Given the description of an element on the screen output the (x, y) to click on. 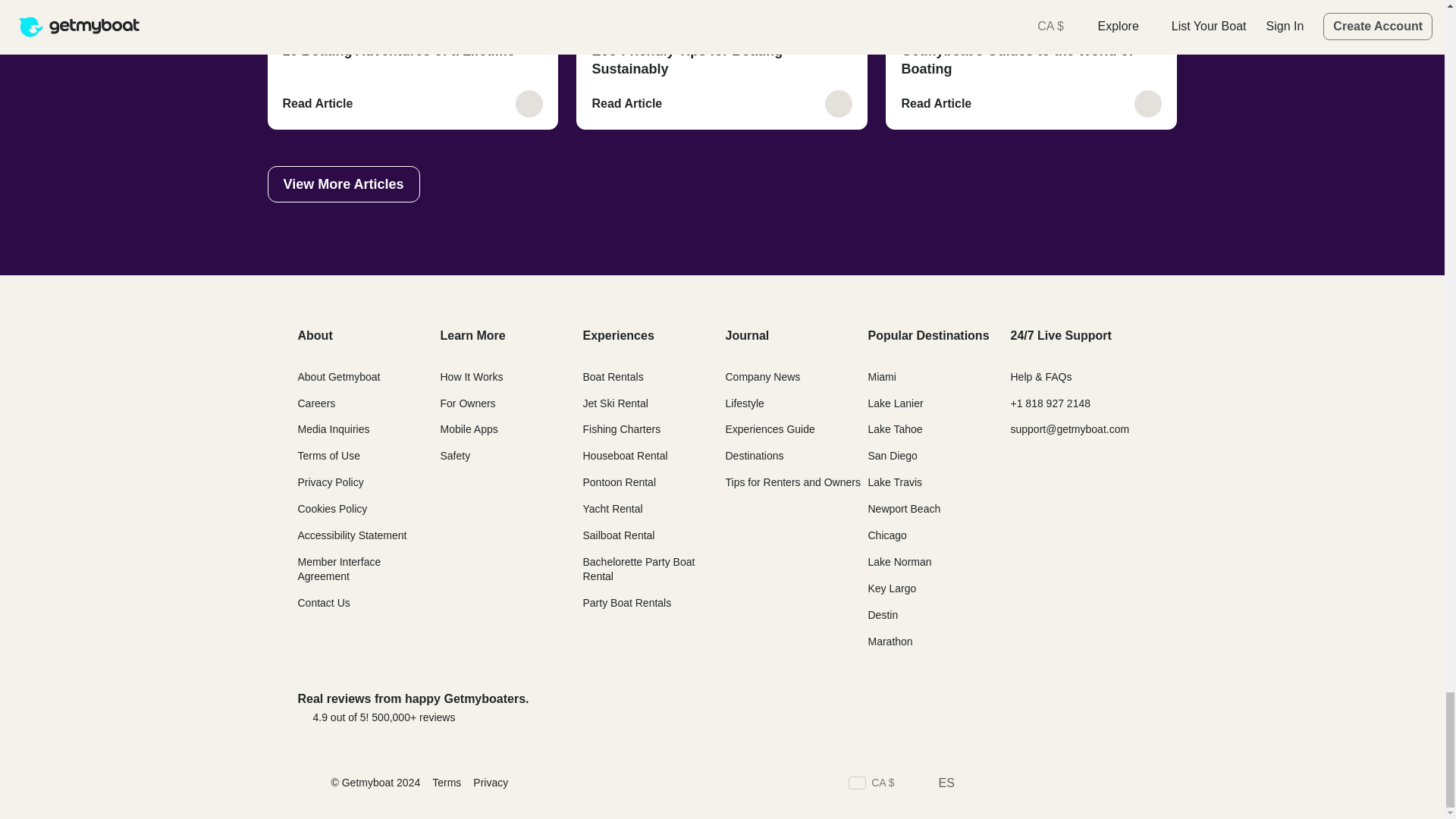
Instagram (1029, 784)
Twitter (1002, 784)
Get it on Google Play (1096, 707)
TikTok (1084, 784)
Facebook (975, 784)
Download on the App Store (977, 707)
LinkedIn (1056, 784)
